Given the description of an element on the screen output the (x, y) to click on. 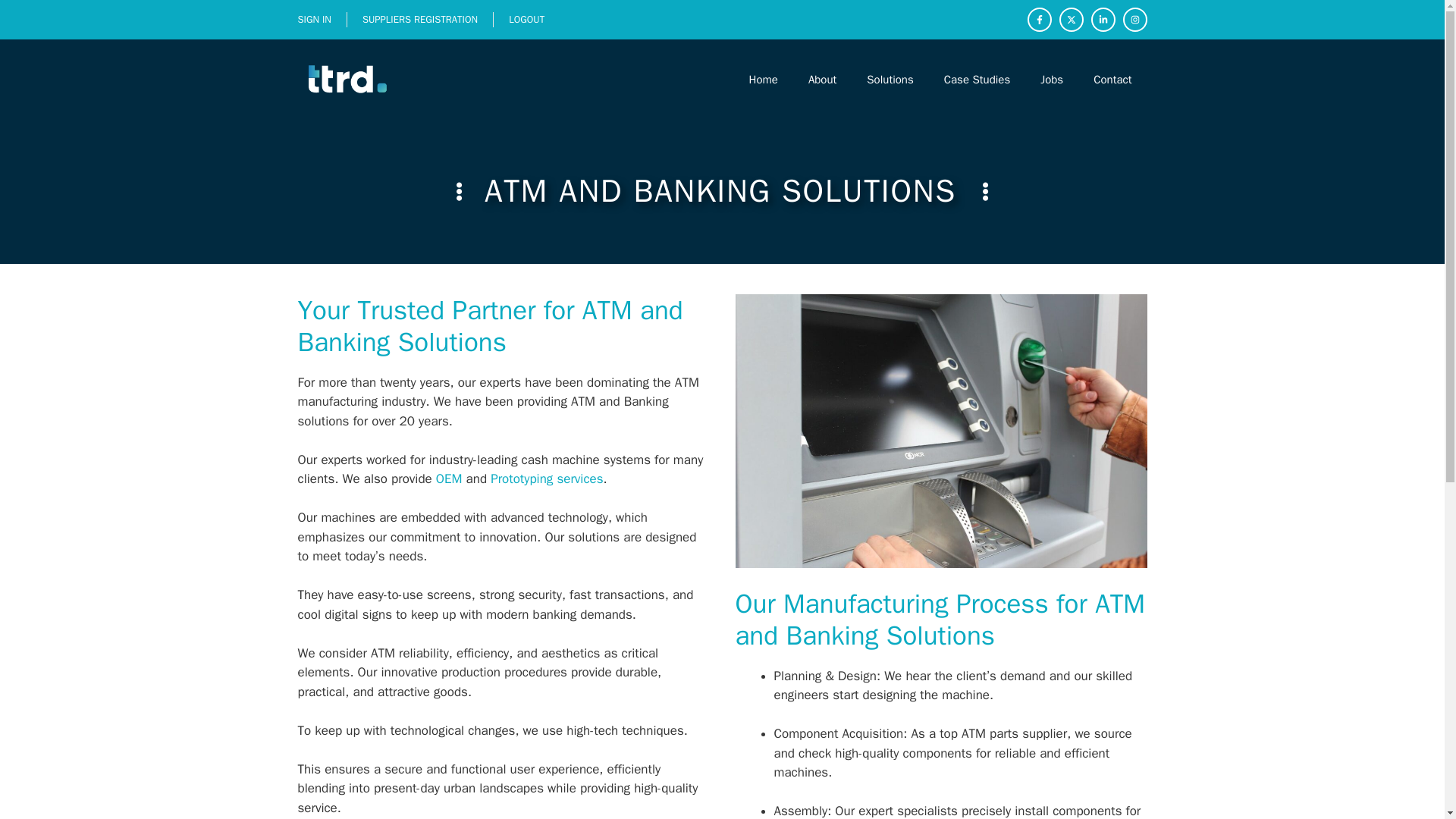
SUPPLIERS REGISTRATION (419, 19)
Prototyping services (546, 478)
SIGN IN (313, 19)
About (822, 79)
Contact (1112, 79)
Home (763, 79)
Jobs (1051, 79)
LOGOUT (526, 19)
Solutions (889, 79)
OEM (449, 478)
Case Studies (976, 79)
